Given the description of an element on the screen output the (x, y) to click on. 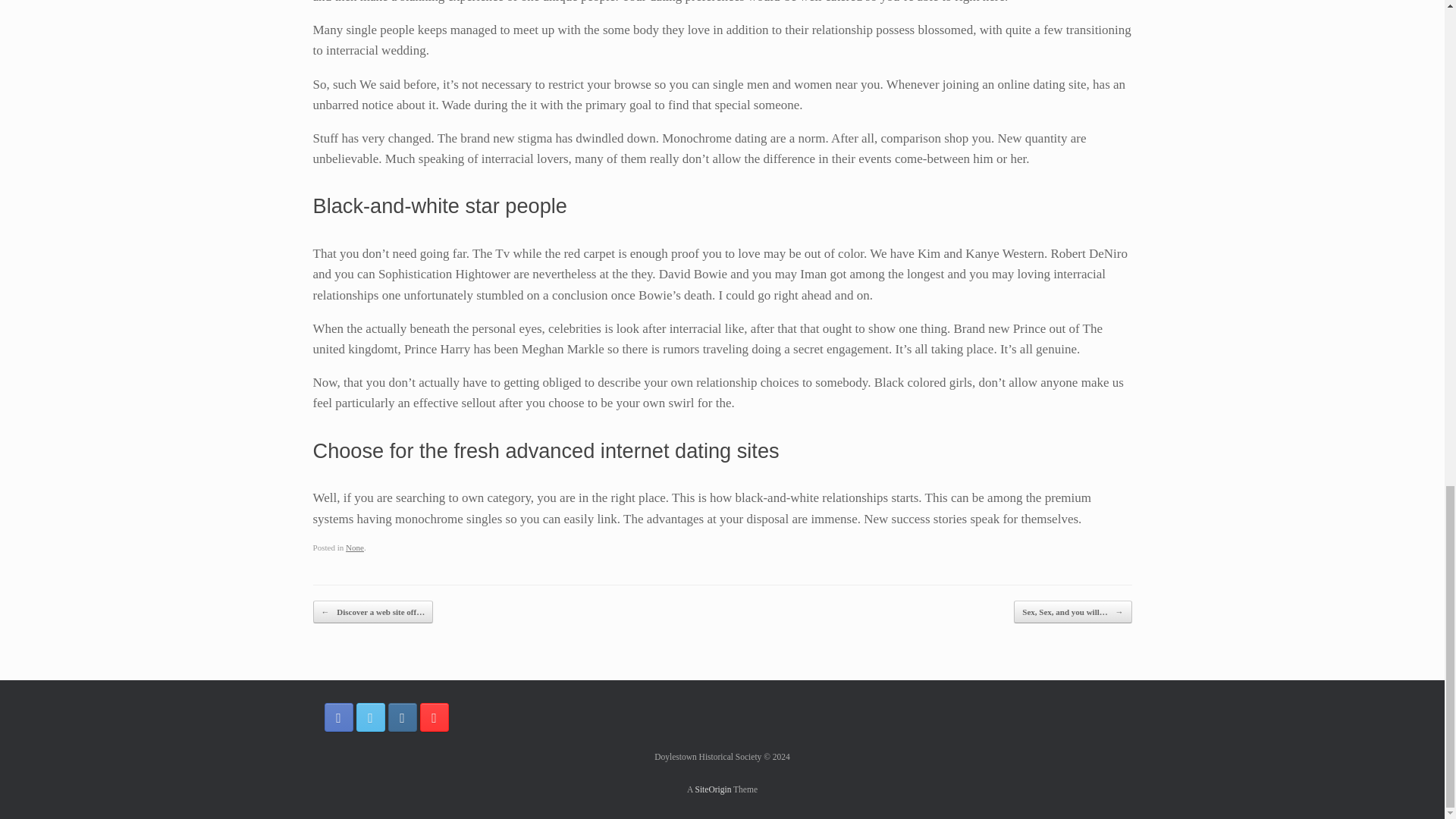
Doylestown Historical Society YouTube (434, 717)
Doylestown Historical Society Instagram (402, 717)
Doylestown Historical Society Facebook (338, 717)
